Given the description of an element on the screen output the (x, y) to click on. 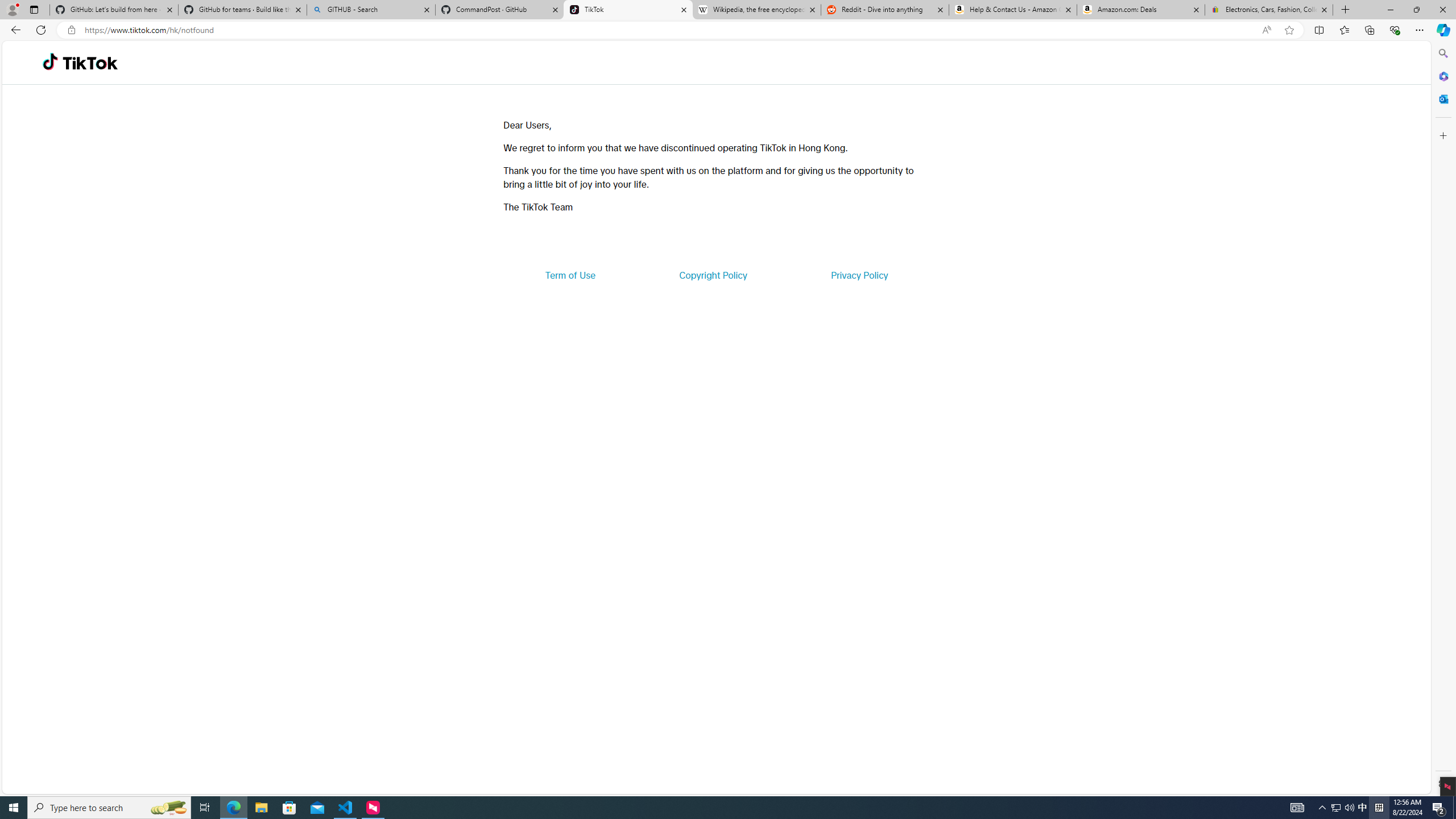
Term of Use (569, 274)
Copyright Policy (712, 274)
